Given the description of an element on the screen output the (x, y) to click on. 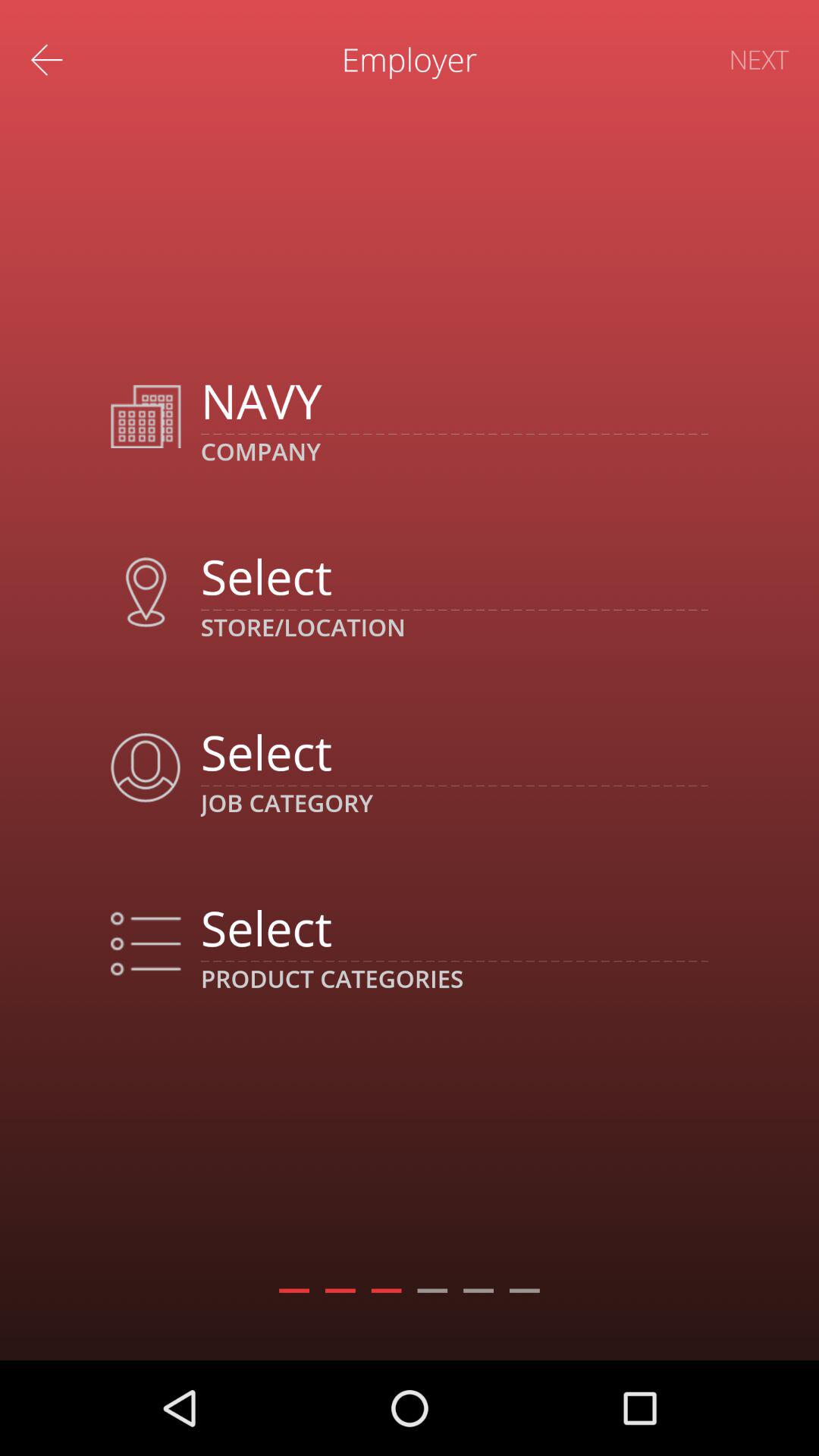
click on the text option select above the text job category (454, 751)
